Given the description of an element on the screen output the (x, y) to click on. 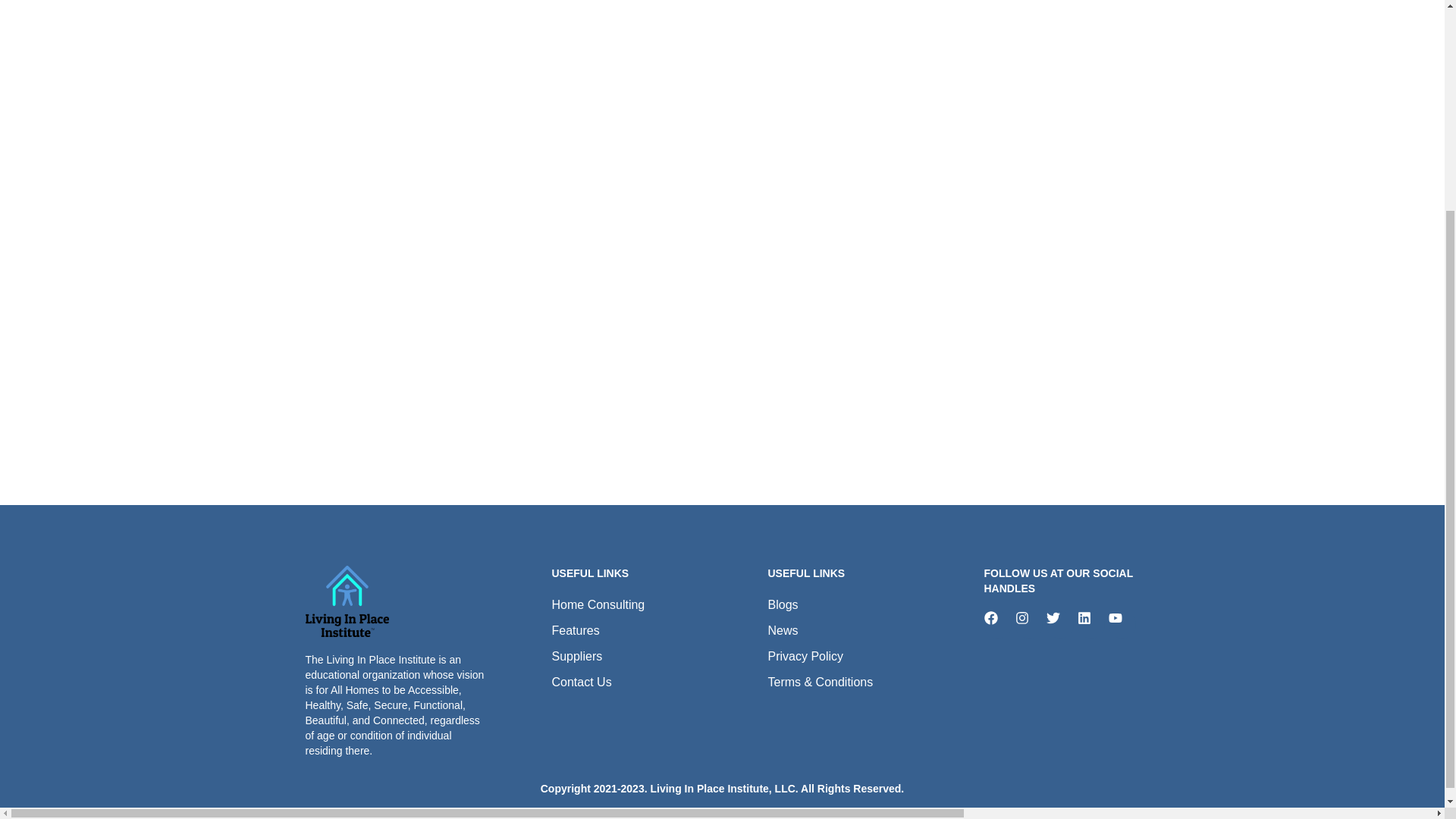
Suppliers (629, 656)
Blogs (845, 605)
Home Consulting (629, 605)
Contact Us (629, 682)
News (845, 630)
Features (629, 630)
